Given the description of an element on the screen output the (x, y) to click on. 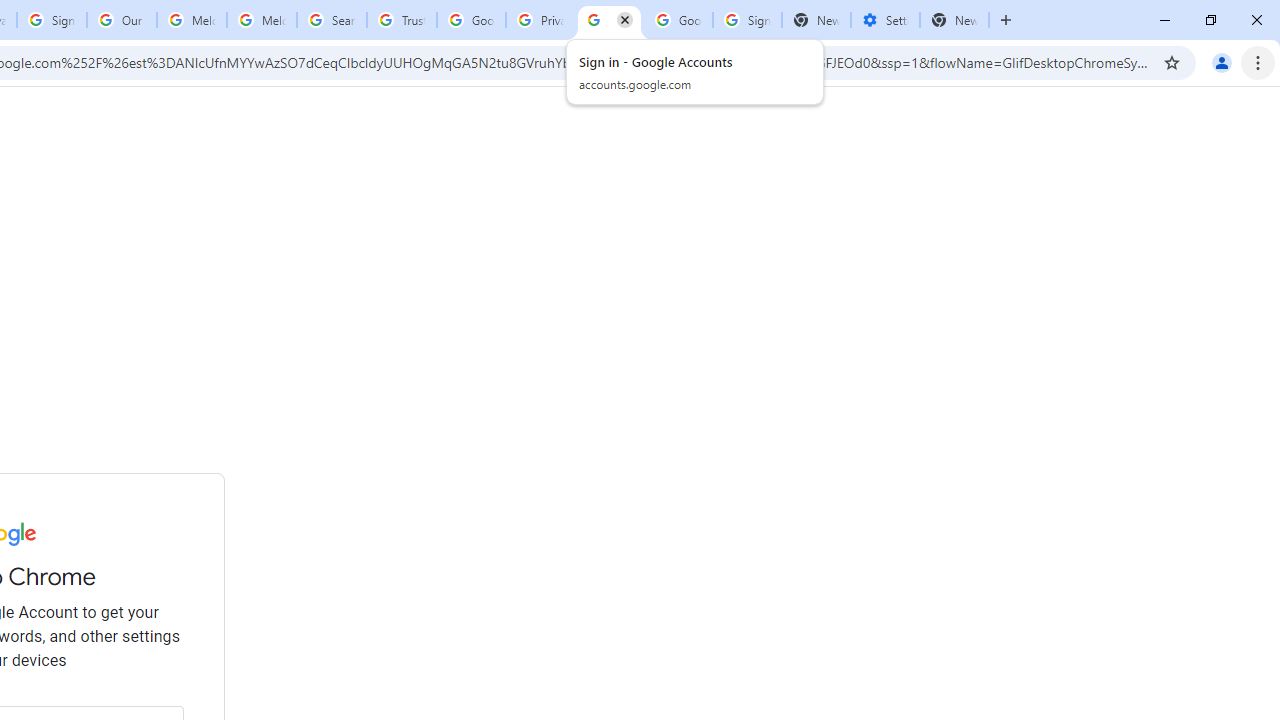
Sign in - Google Accounts (608, 20)
Settings - Addresses and more (885, 20)
Sign in - Google Accounts (51, 20)
